Given the description of an element on the screen output the (x, y) to click on. 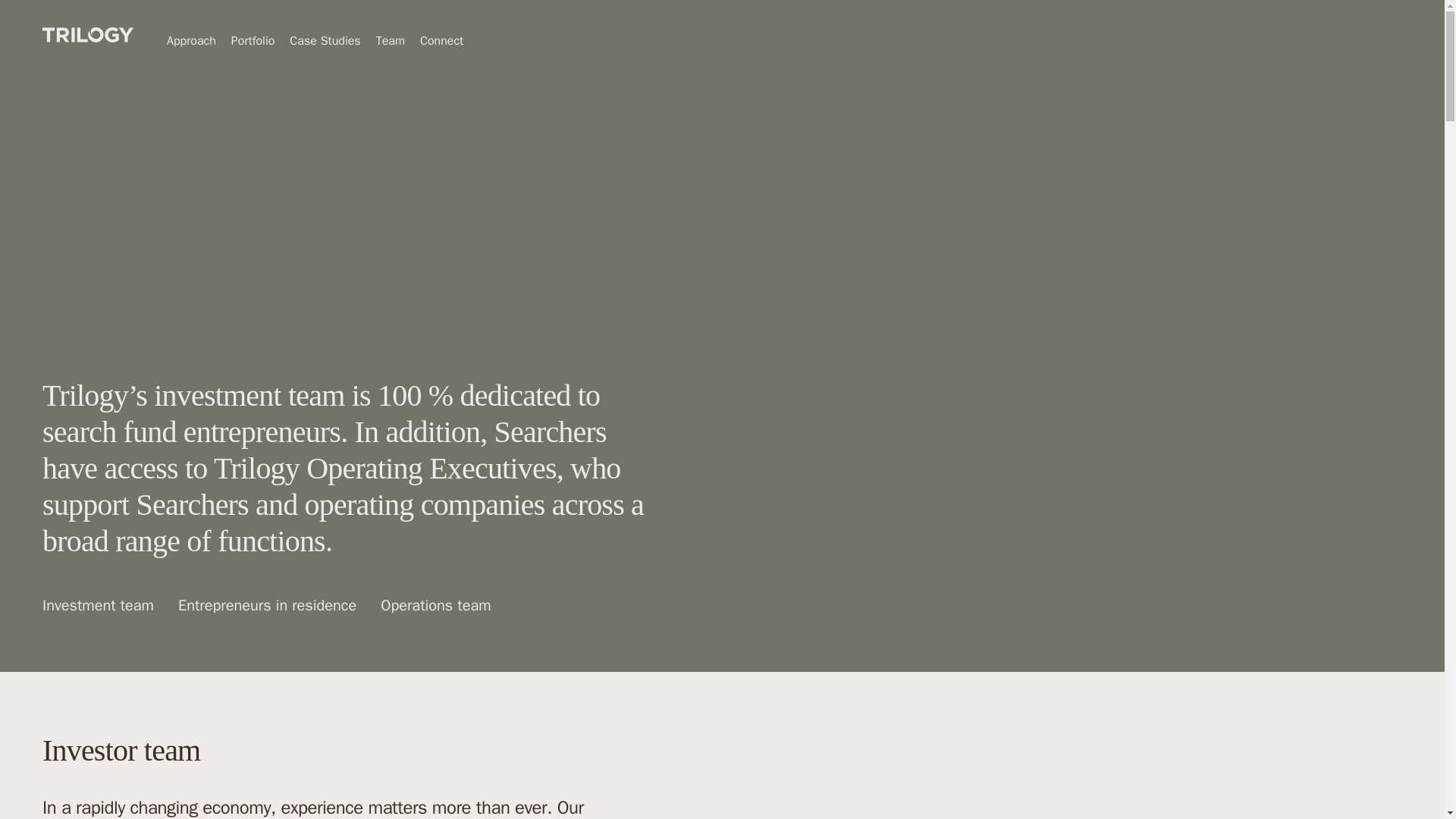
Case Studies (324, 40)
Investment team (98, 605)
Team (389, 40)
Entrepreneurs in residence (266, 605)
Connect (441, 40)
Approach (191, 40)
Portfolio (253, 40)
Operations team (435, 605)
